Given the description of an element on the screen output the (x, y) to click on. 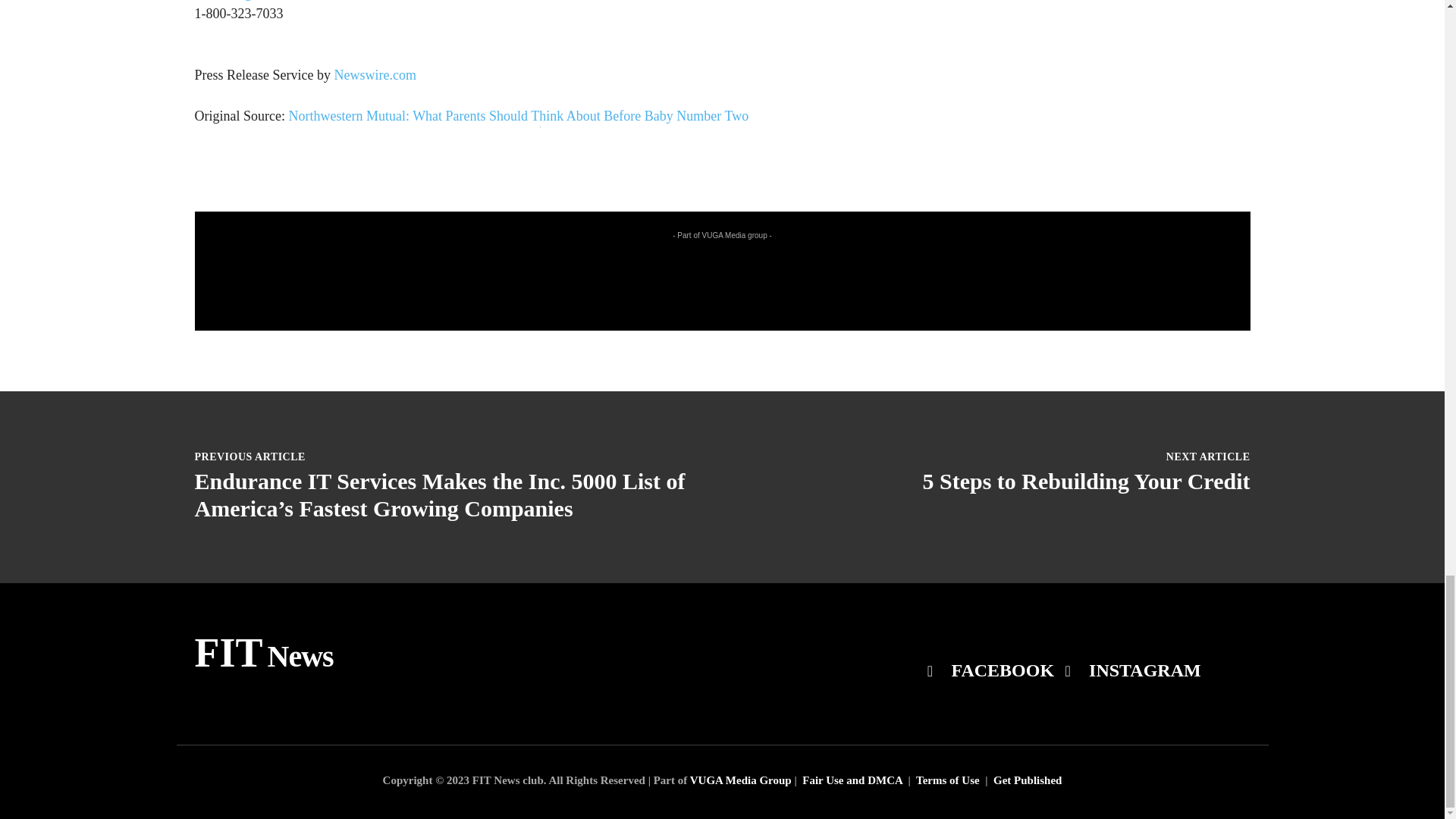
Newswire.com (373, 74)
